Given the description of an element on the screen output the (x, y) to click on. 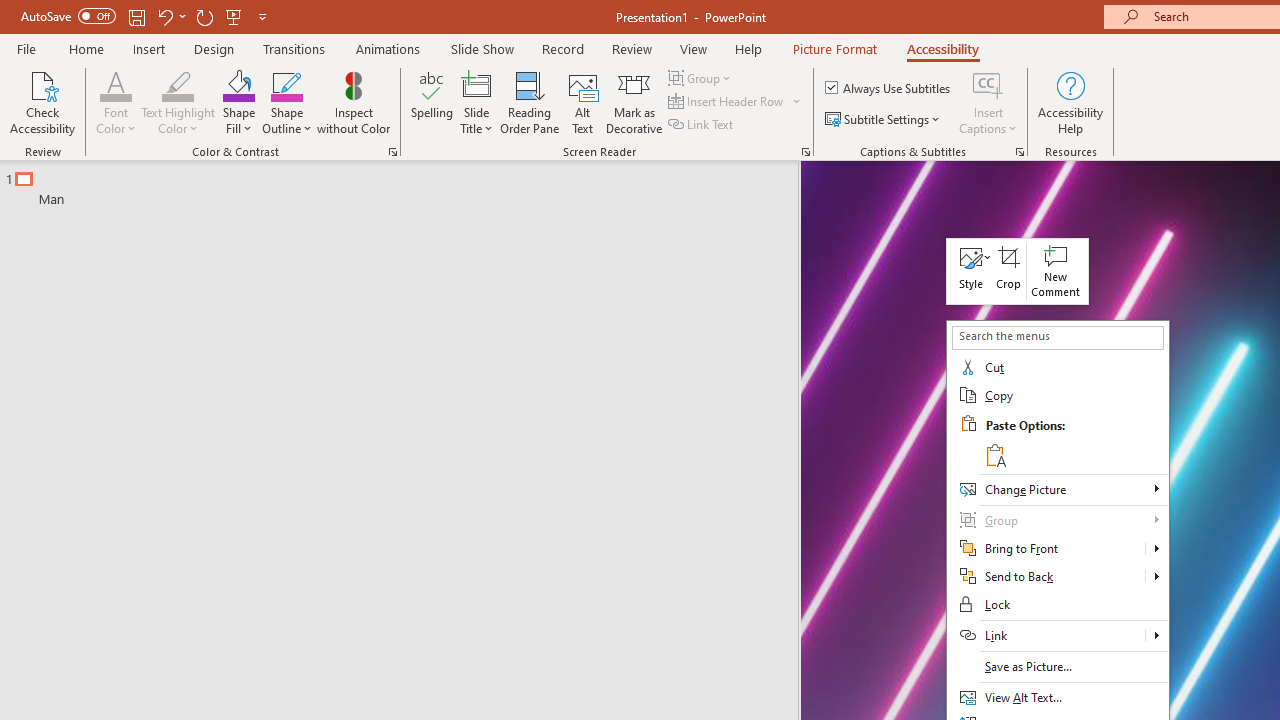
Bring to Front (1046, 548)
Reading Order Pane (529, 102)
Subtitle Settings (884, 119)
